Given the description of an element on the screen output the (x, y) to click on. 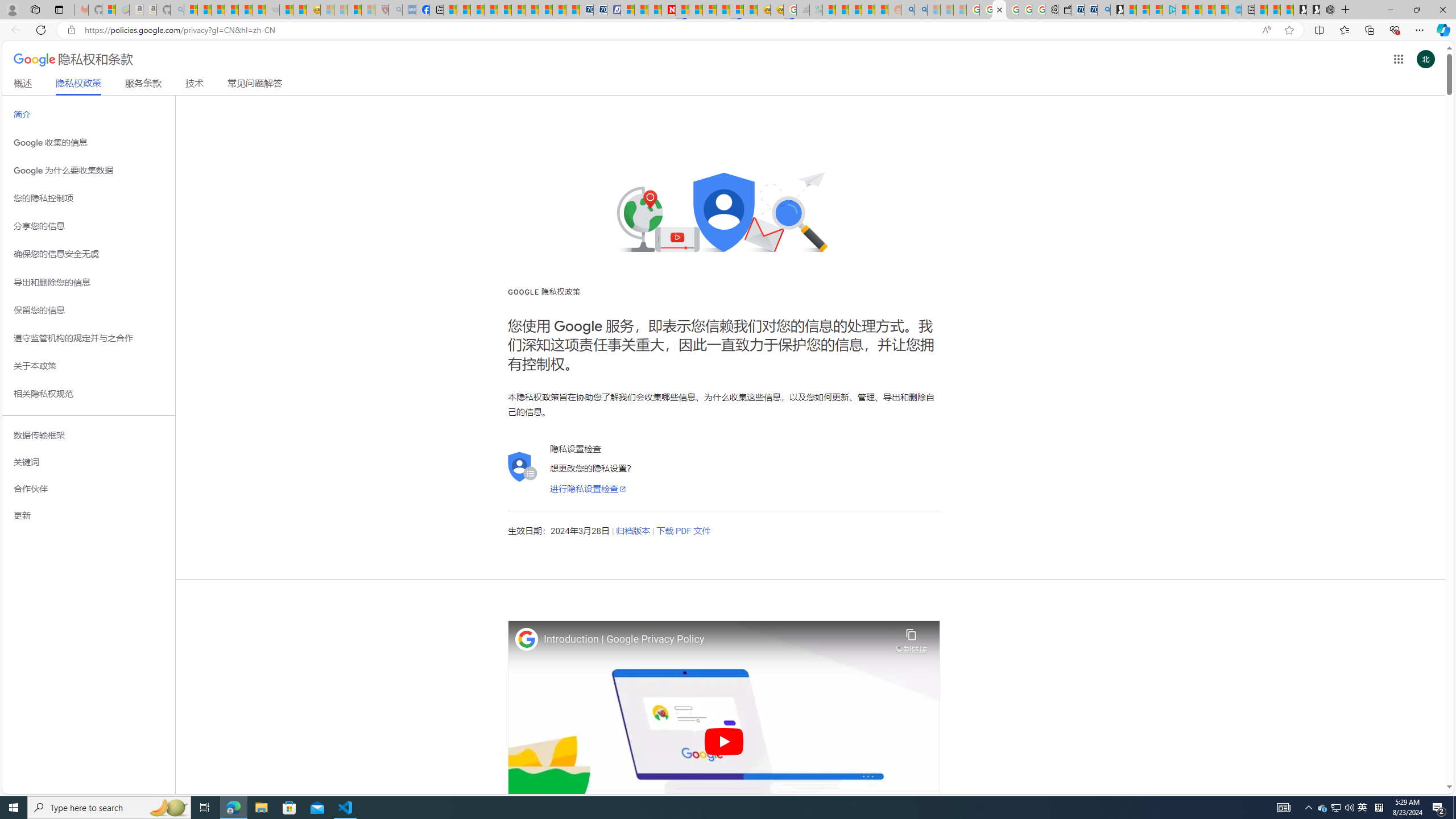
12 Popular Science Lies that Must be Corrected - Sleeping (368, 9)
